Given the description of an element on the screen output the (x, y) to click on. 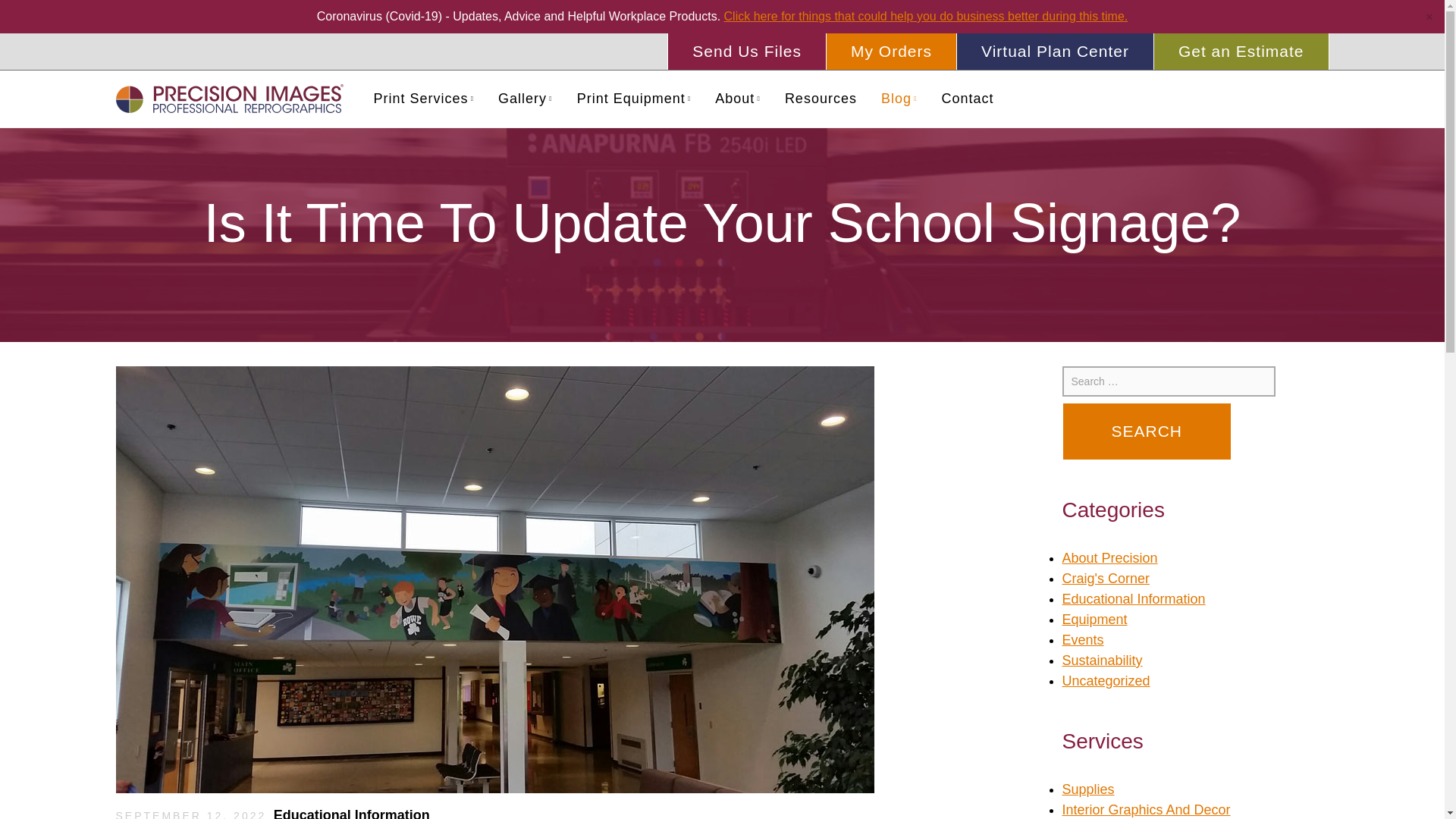
About (738, 97)
Virtual Plan Center (1054, 51)
Blog (899, 97)
Send Us Files (745, 51)
Contact (968, 97)
Gallery (525, 97)
Print Services (423, 97)
Search (1146, 430)
Print Equipment (633, 97)
Get an Estimate (1241, 51)
Resources (821, 97)
My Orders (890, 51)
Search (1146, 430)
